Given the description of an element on the screen output the (x, y) to click on. 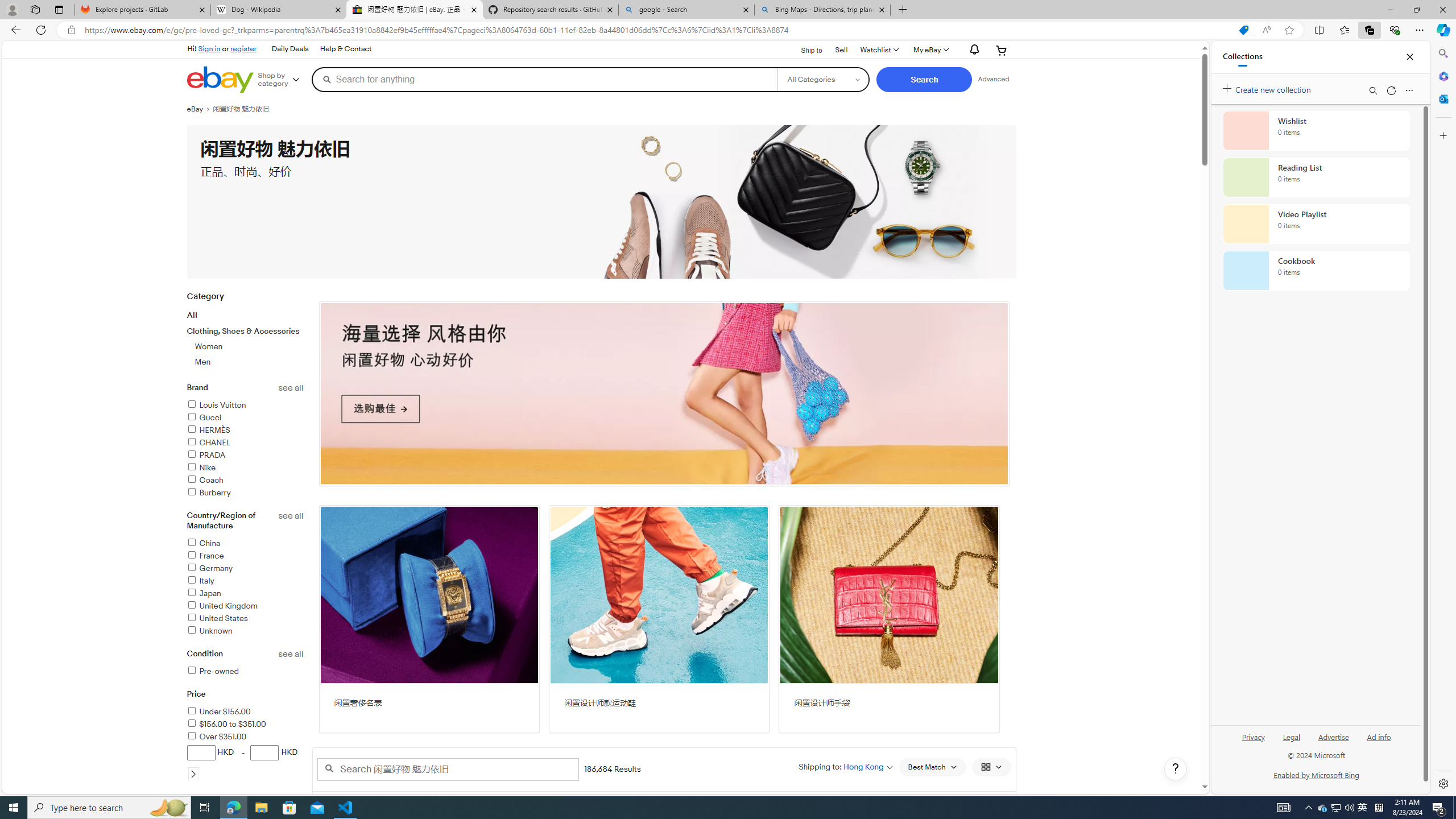
France (245, 556)
Expand Cart (1001, 49)
Unknown (209, 630)
AutomationID: gh-eb-Alerts (972, 49)
Women (249, 346)
Select a category for search (823, 78)
Reading List collection, 0 items (1316, 177)
Italy (245, 581)
United States (245, 618)
